Given the description of an element on the screen output the (x, y) to click on. 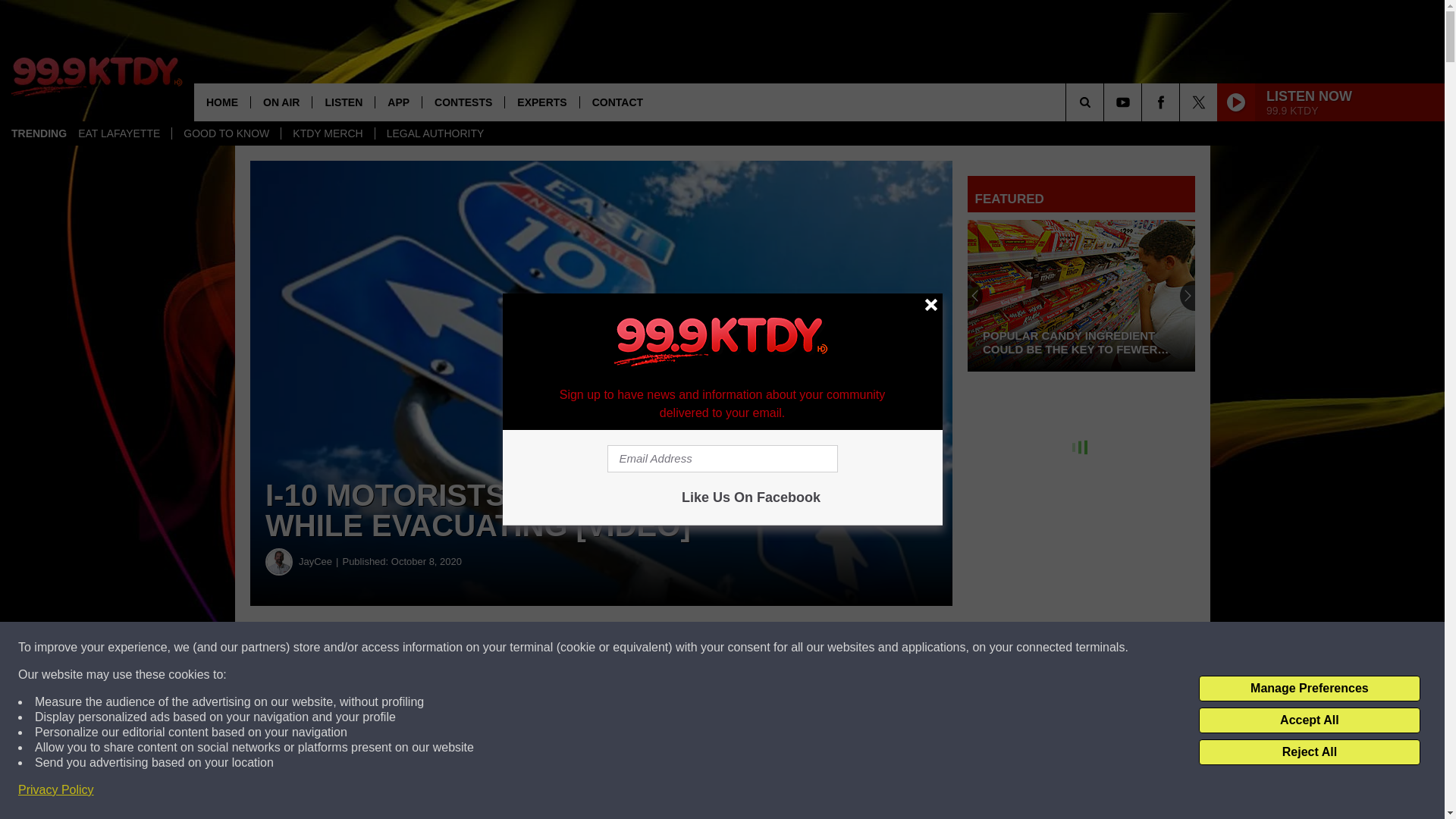
Accept All (1309, 720)
LISTEN (342, 102)
Privacy Policy (55, 789)
HOME (221, 102)
LEGAL AUTHORITY (435, 133)
EXPERTS (540, 102)
EAT LAFAYETTE (118, 133)
CONTESTS (462, 102)
Email Address (722, 458)
ON AIR (280, 102)
APP (398, 102)
Share on Twitter (741, 647)
SEARCH (1106, 102)
SEARCH (1106, 102)
Reject All (1309, 751)
